Given the description of an element on the screen output the (x, y) to click on. 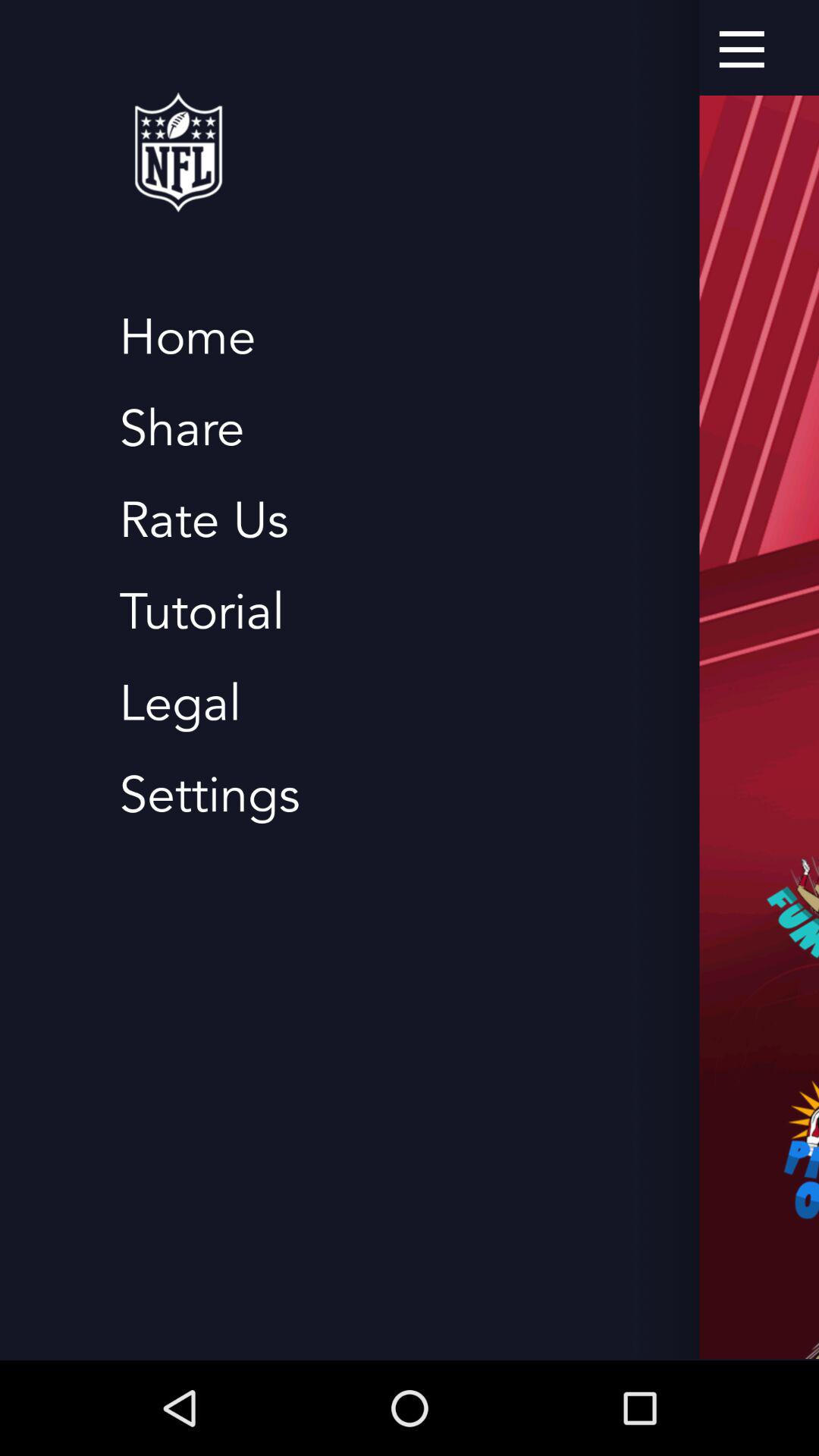
launch the icon below rate us item (201, 612)
